Given the description of an element on the screen output the (x, y) to click on. 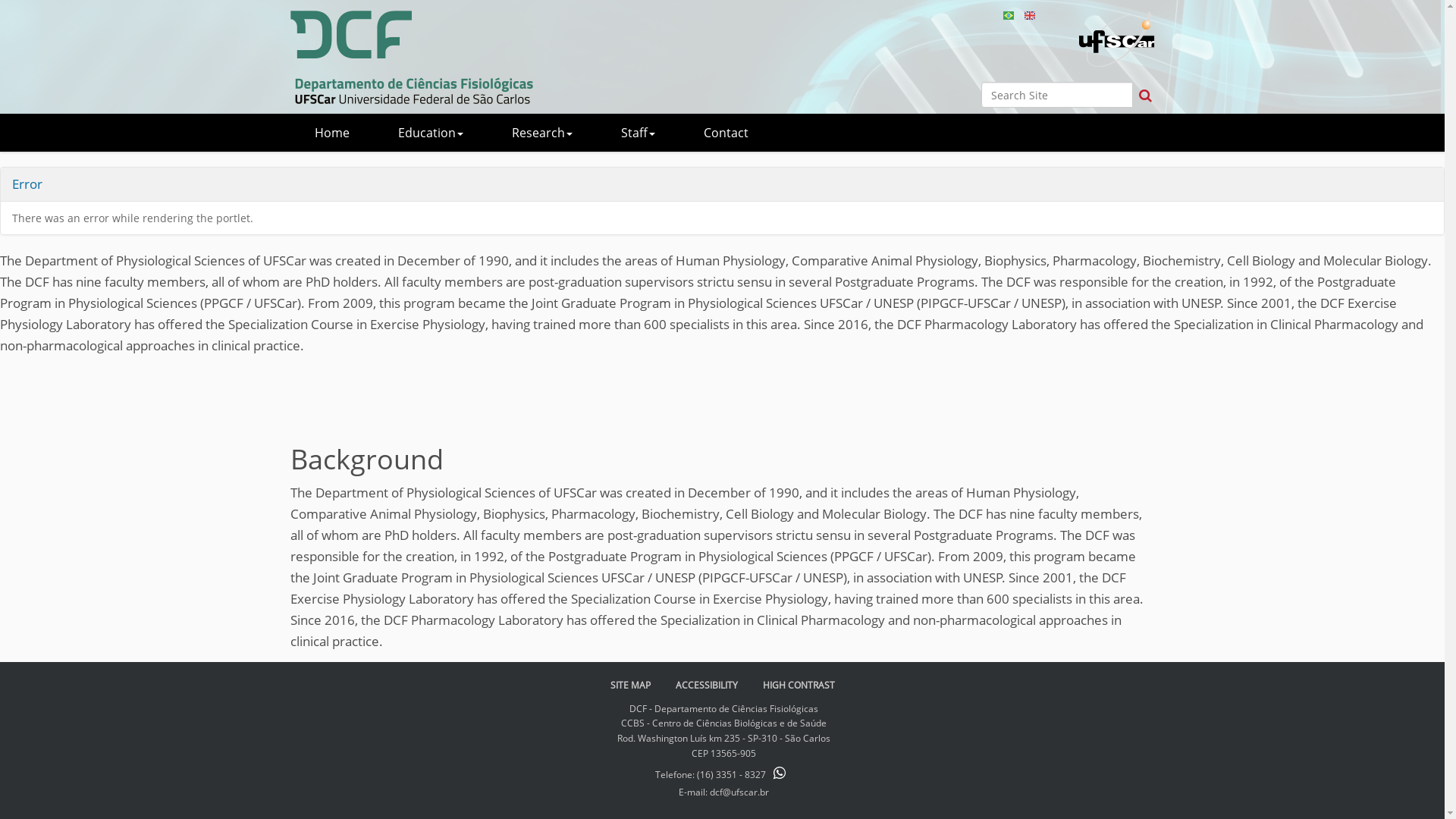
English Element type: hover (1028, 15)
SITE MAP Element type: text (629, 684)
Search Site Element type: hover (1056, 94)
English Element type: hover (1028, 13)
Contact Element type: text (725, 132)
ACCESSIBILITY Element type: text (705, 684)
Education Element type: text (429, 132)
Research Element type: text (541, 132)
Error Element type: text (27, 183)
HIGH CONTRAST Element type: text (798, 684)
Home Element type: text (331, 132)
Staff Element type: text (637, 132)
Portal UFSCar Element type: hover (1116, 38)
English Element type: hover (410, 56)
